Given the description of an element on the screen output the (x, y) to click on. 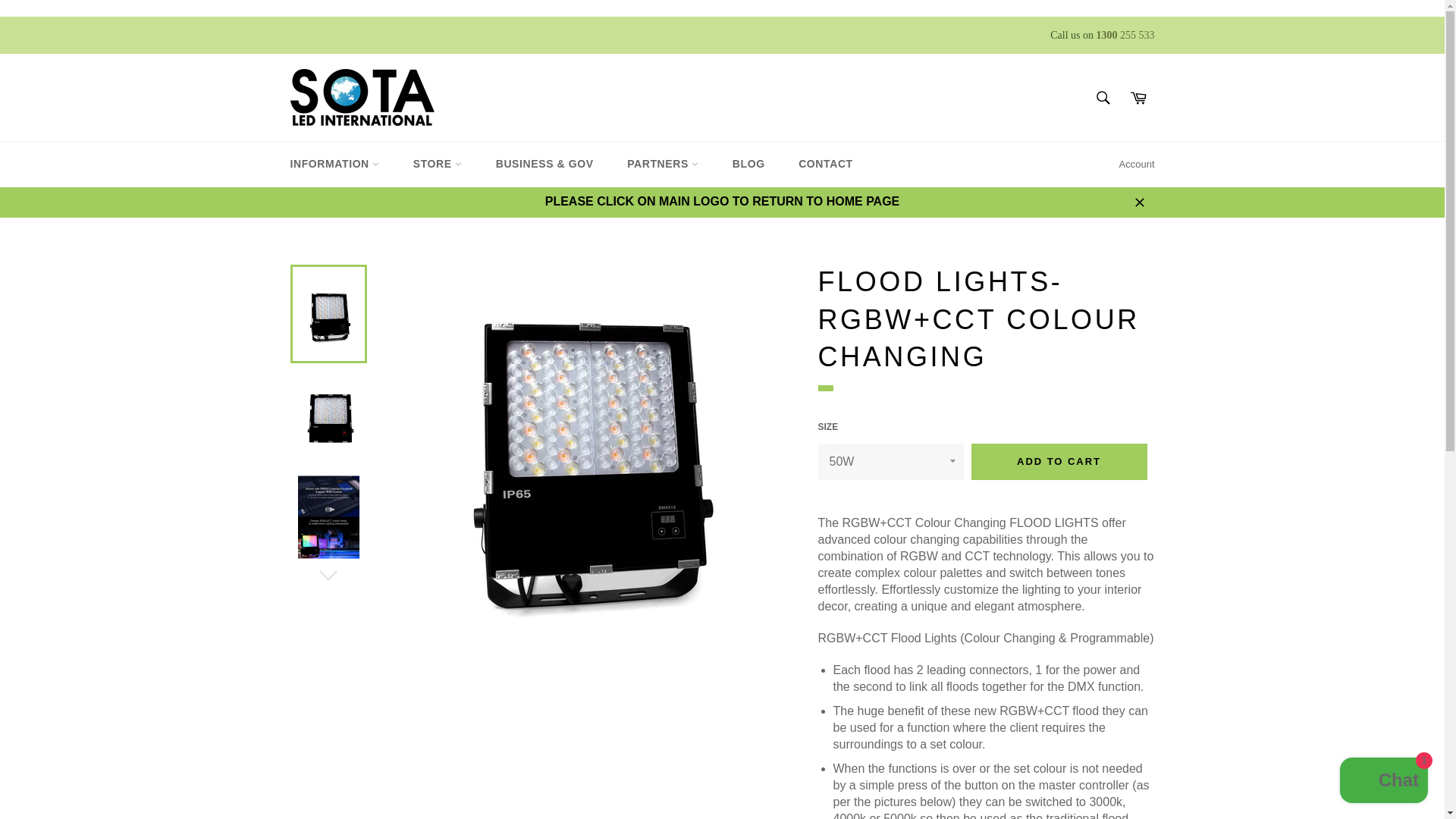
Shopify online store chat (1383, 781)
INFORMATION (334, 163)
1300 255 533 (1125, 34)
Search (1103, 97)
STORE (437, 163)
Cart (1138, 97)
